Given the description of an element on the screen output the (x, y) to click on. 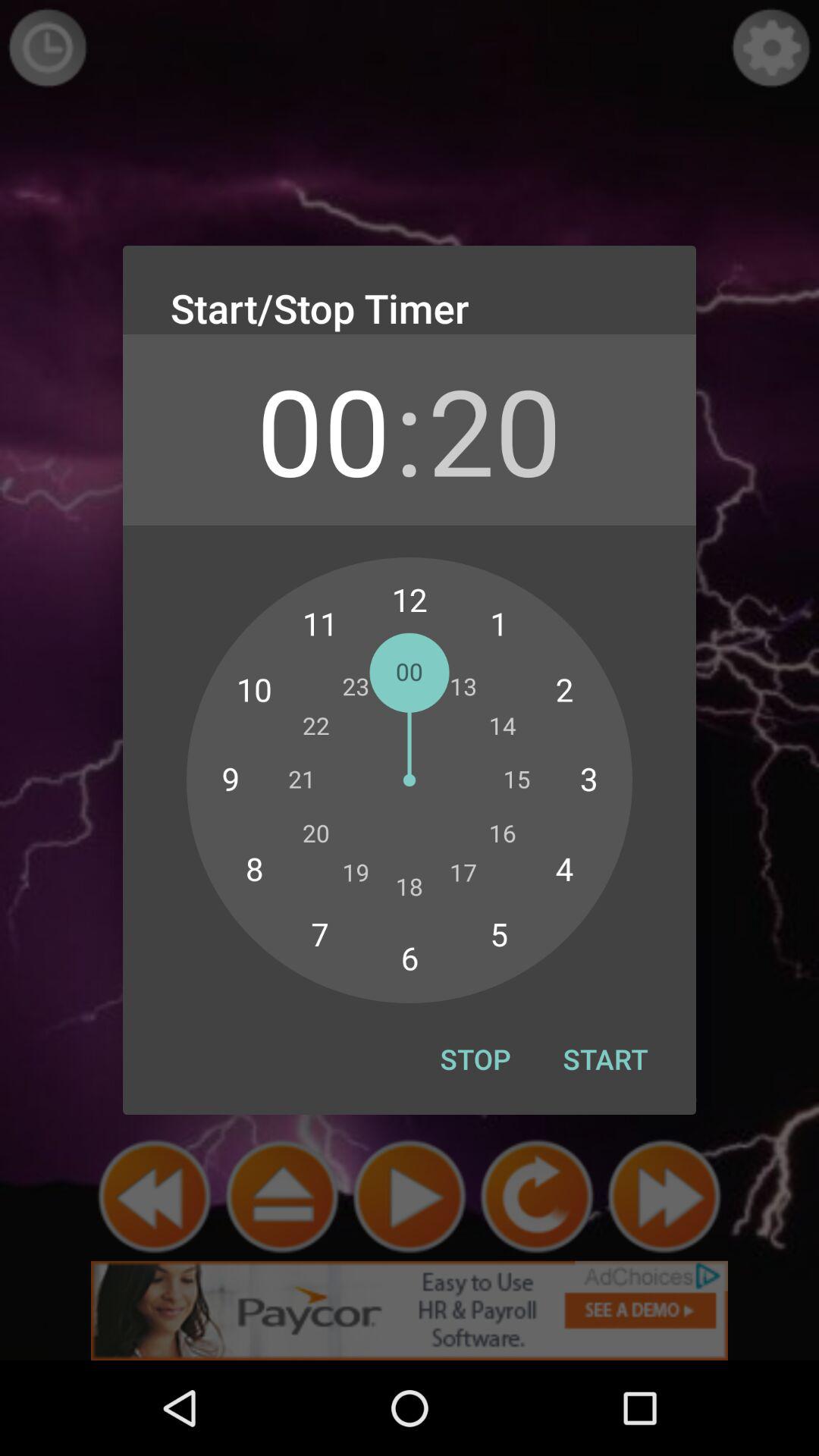
turn off 00 (323, 429)
